Given the description of an element on the screen output the (x, y) to click on. 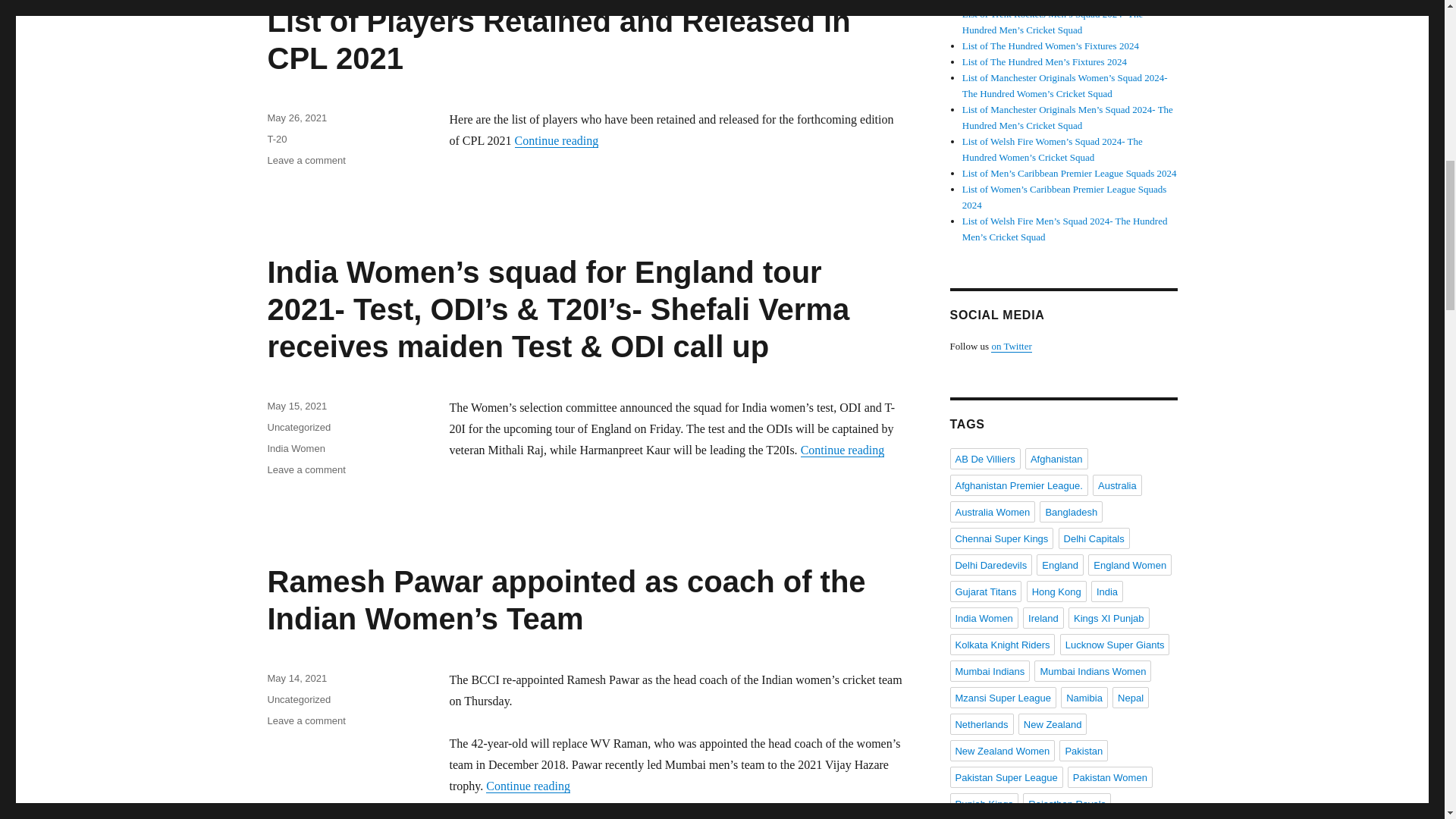
T-20 (276, 138)
May 14, 2021 (296, 677)
India Women (295, 448)
May 26, 2021 (296, 117)
Uncategorized (298, 427)
List of Players Retained and Released in CPL 2021 (558, 39)
May 15, 2021 (296, 405)
Uncategorized (298, 699)
